Given the description of an element on the screen output the (x, y) to click on. 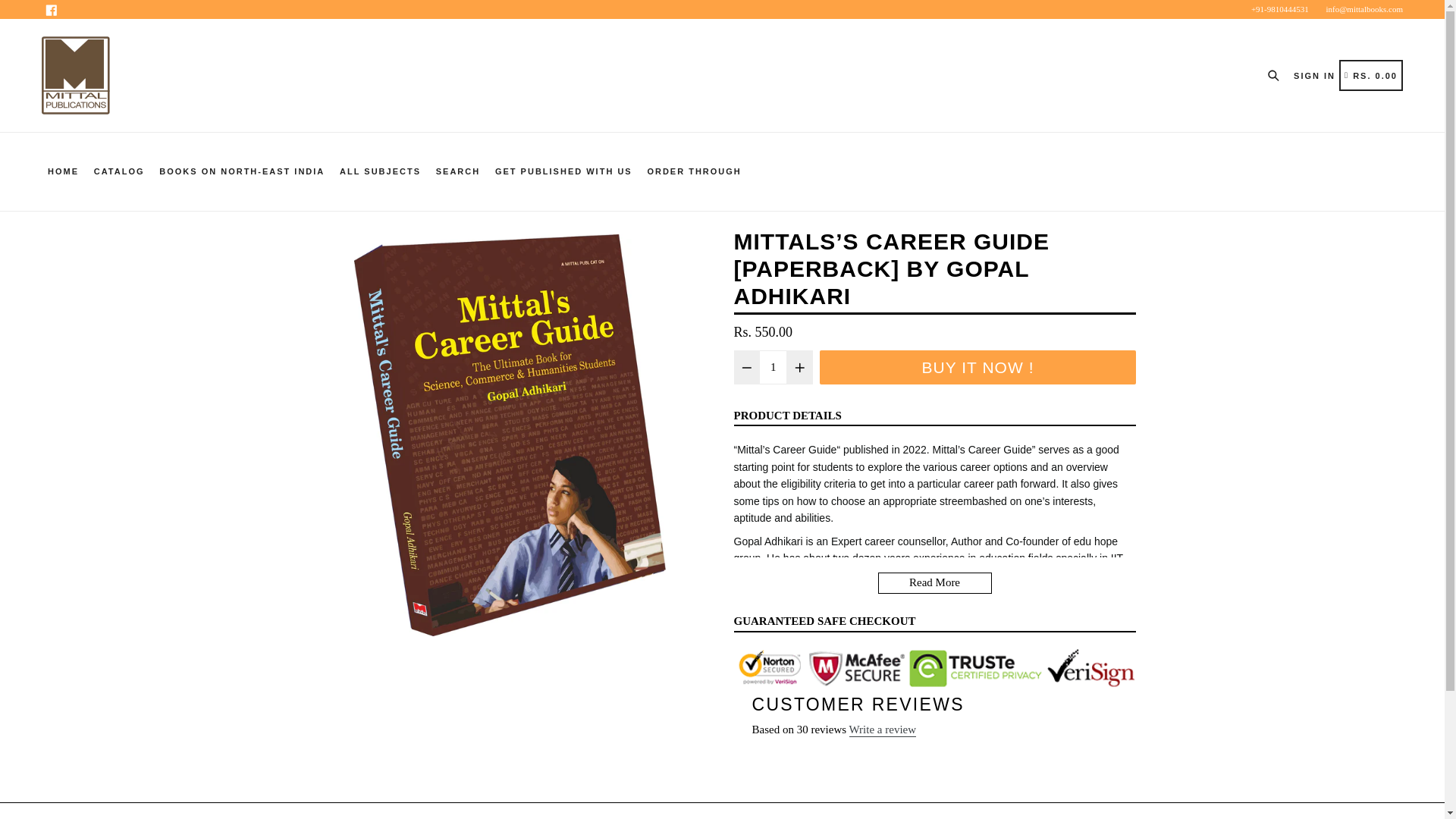
Write a review (882, 730)
BOOKS ON NORTH-EAST INDIA (241, 171)
GET PUBLISHED WITH US (564, 171)
BUY IT NOW ! (1371, 74)
Read More (976, 367)
Facebook (934, 582)
PRODUCT DETAILS (51, 9)
Search (787, 415)
SIGN IN (1276, 74)
Mittal Publications on Facebook (1314, 74)
ORDER THROUGH (51, 9)
ALL SUBJECTS (693, 171)
